Given the description of an element on the screen output the (x, y) to click on. 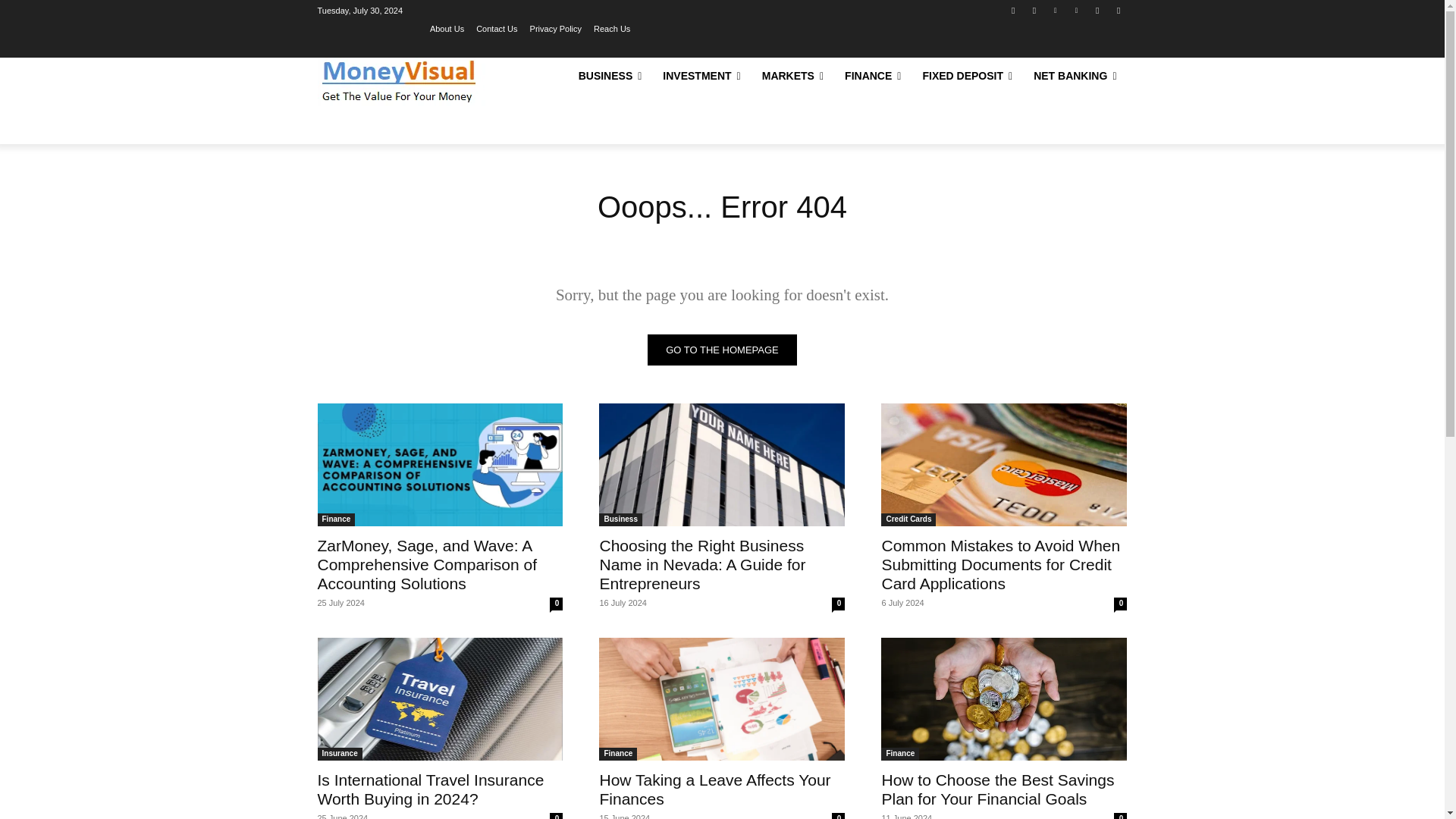
How to Choose the Best Savings Plan for Your Financial Goals (1003, 699)
Is International Travel Insurance Worth Buying in 2024? (439, 699)
Go to the homepage (721, 349)
About Us (446, 28)
How Taking a Leave Affects Your Finances (713, 789)
Instagram (1034, 9)
Facebook (1013, 9)
Pinterest (1075, 9)
Linkedin (1055, 9)
Twitter (1097, 9)
Is International Travel Insurance Worth Buying in 2024? (430, 789)
How Taking a Leave Affects Your Finances (721, 699)
